Given the description of an element on the screen output the (x, y) to click on. 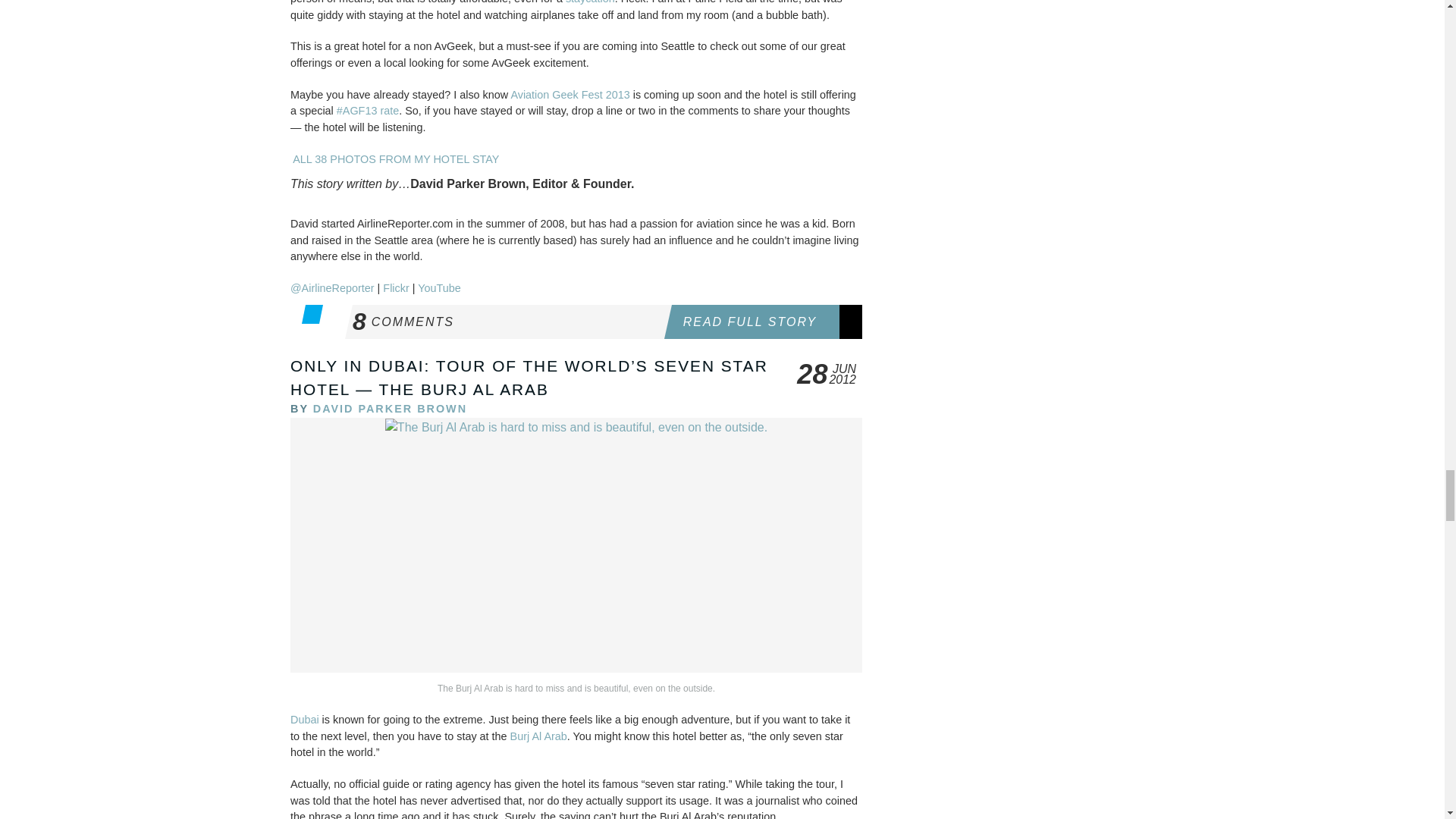
Burj Al Arab 1b (576, 545)
Posts by David Parker Brown (390, 408)
